Given the description of an element on the screen output the (x, y) to click on. 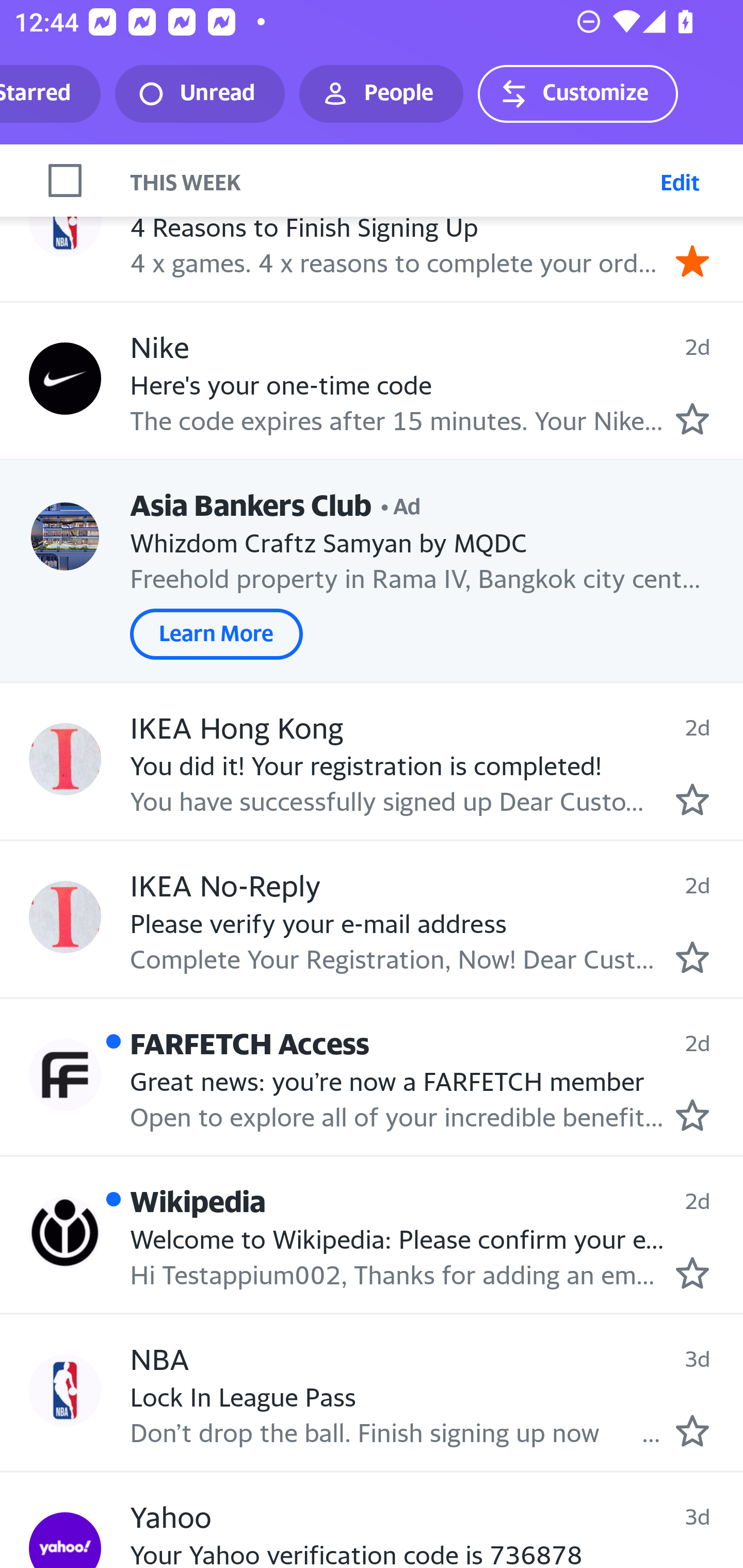
Unread (199, 93)
People (381, 93)
Customize (577, 93)
Remove star. (692, 261)
Profile
Nike (64, 377)
Mark as starred. (692, 419)
Profile
IKEA Hong Kong (64, 758)
Mark as starred. (692, 798)
Profile
IKEA No-Reply (64, 917)
Mark as starred. (692, 957)
Profile
FARFETCH Access (64, 1074)
Mark as starred. (692, 1115)
Profile
Wikipedia (64, 1232)
Mark as starred. (692, 1272)
Profile
NBA (64, 1390)
Mark as starred. (692, 1430)
Profile
Yahoo (64, 1539)
